Given the description of an element on the screen output the (x, y) to click on. 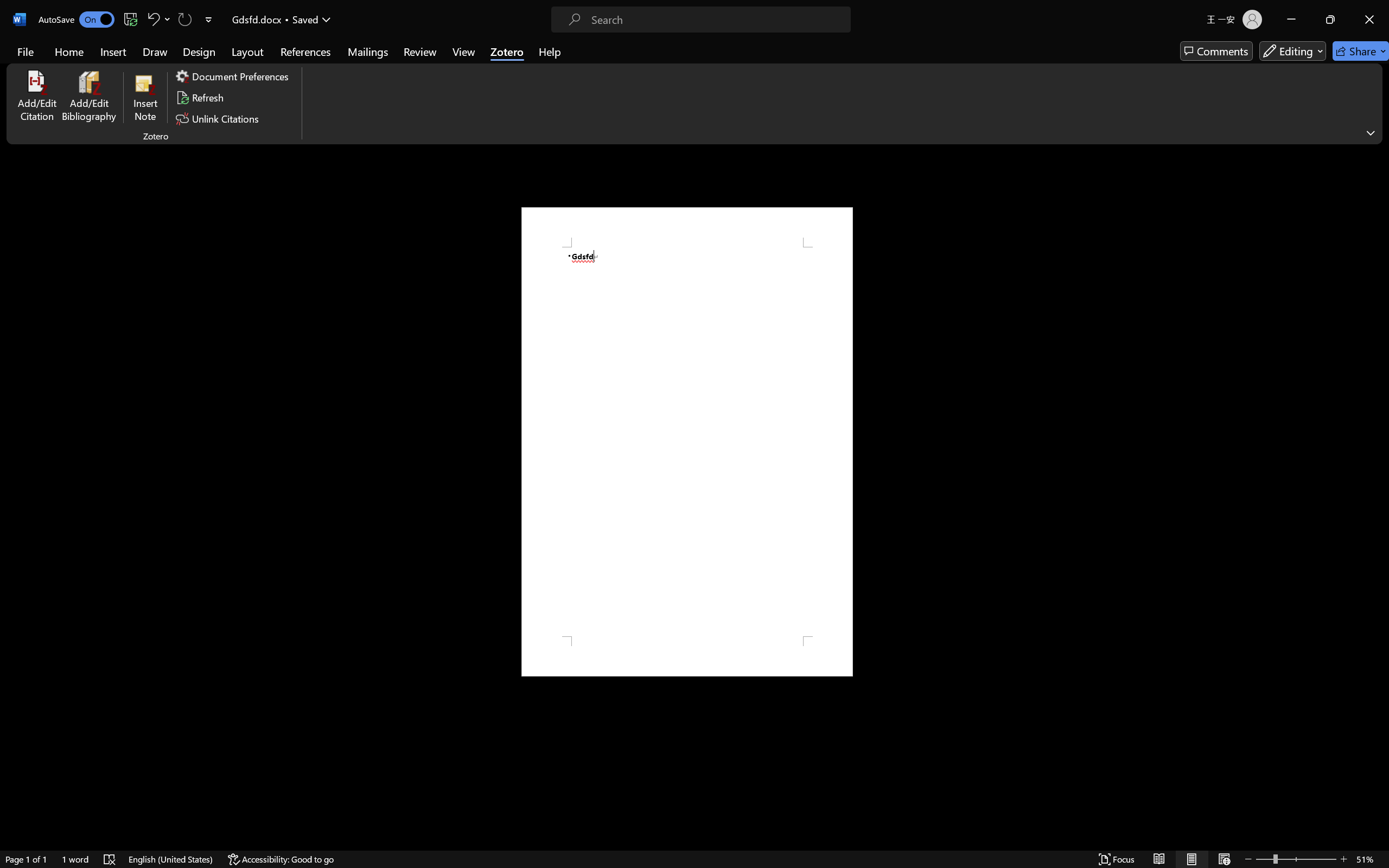
Page 1 content (686, 441)
